Given the description of an element on the screen output the (x, y) to click on. 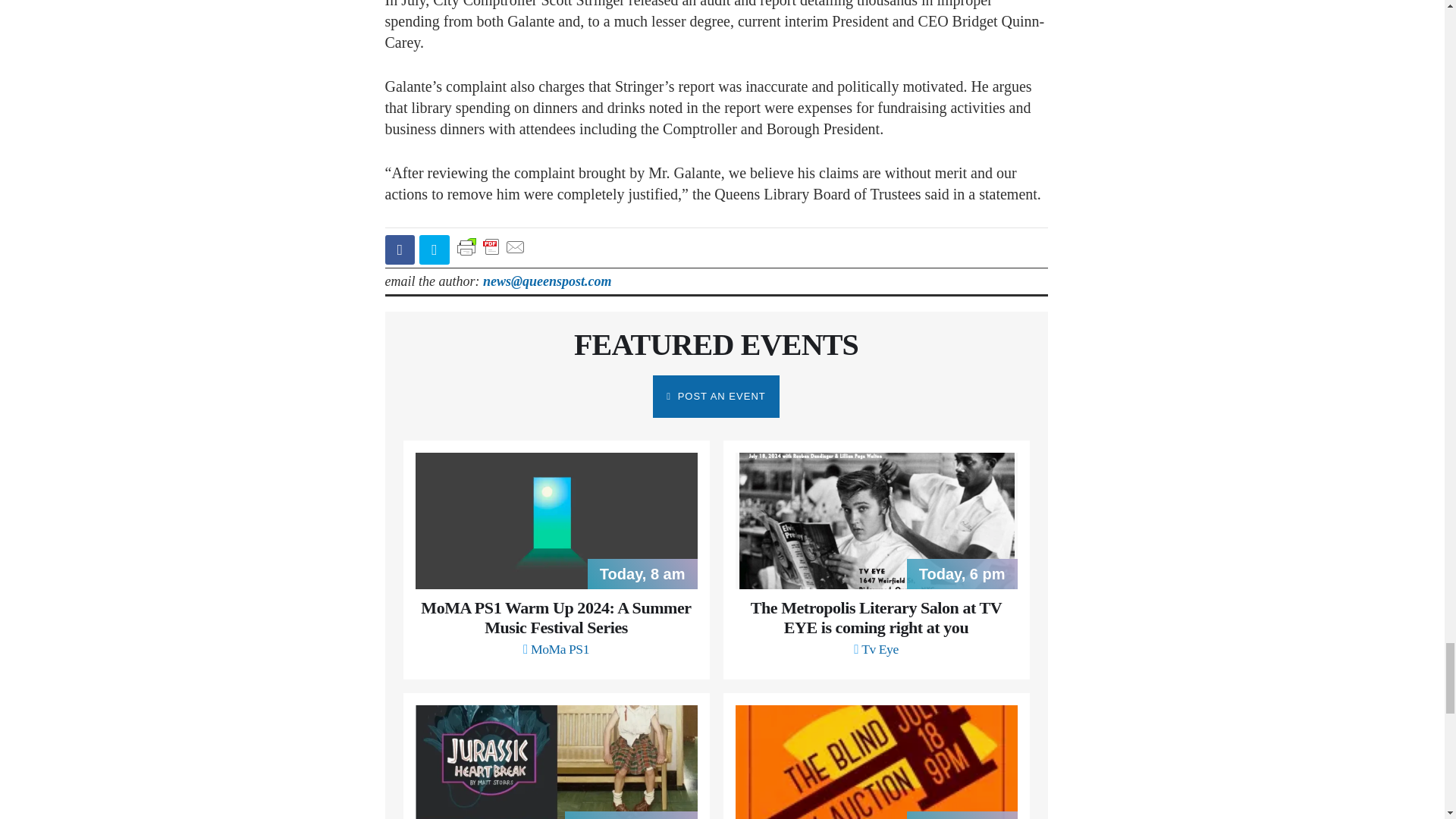
FEATURED EVENTS (716, 344)
POST AN EVENT (715, 396)
